Given the description of an element on the screen output the (x, y) to click on. 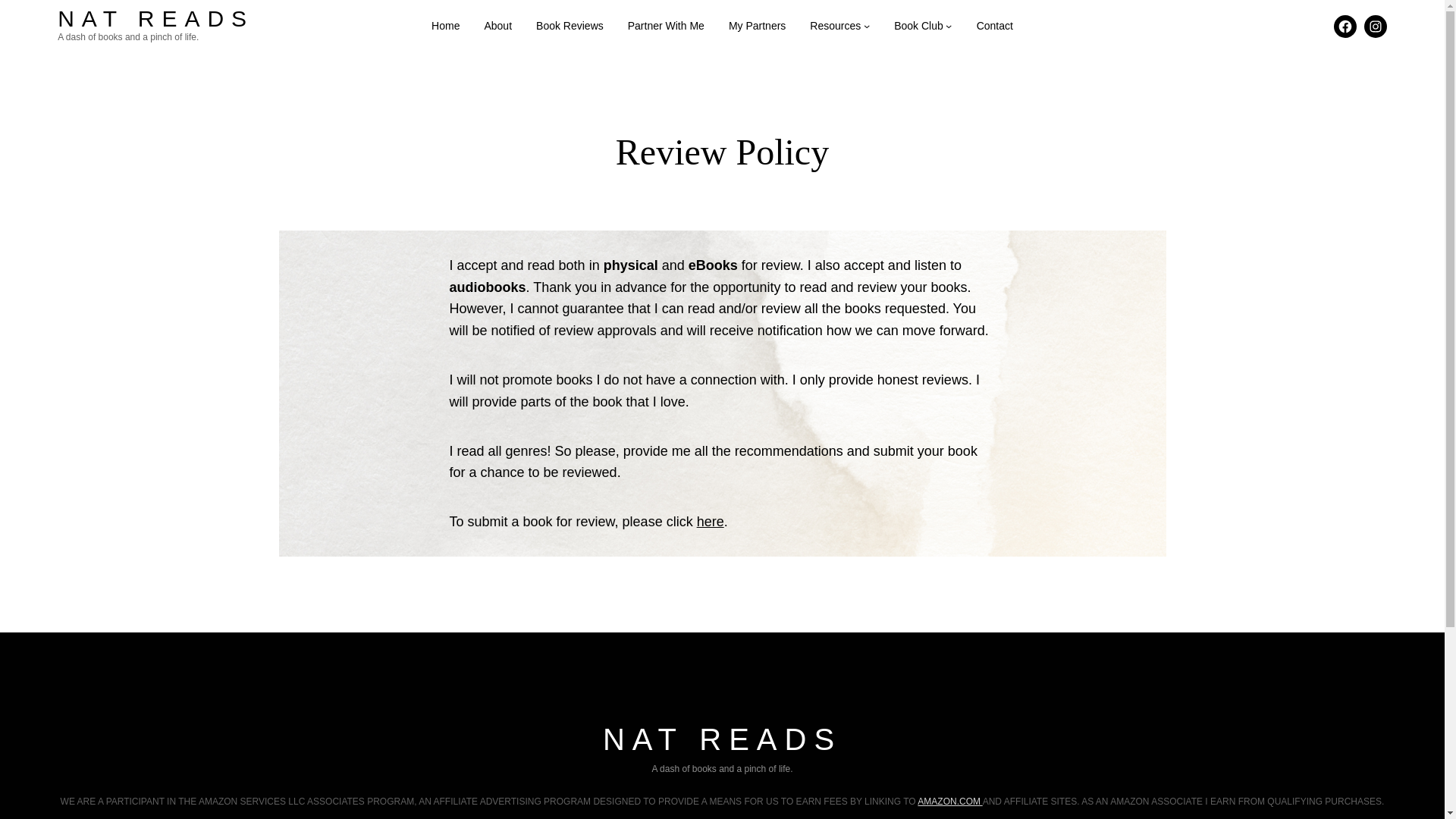
here (710, 521)
My Partners (757, 25)
Book Reviews (569, 25)
Contact (994, 25)
NAT READS (155, 18)
AMAZON.COM  (949, 801)
About (497, 25)
Partner With Me (665, 25)
Book Club (922, 25)
Home (445, 25)
NAT READS (721, 738)
Facebook (1344, 26)
Resources (839, 25)
Instagram (1375, 26)
